Given the description of an element on the screen output the (x, y) to click on. 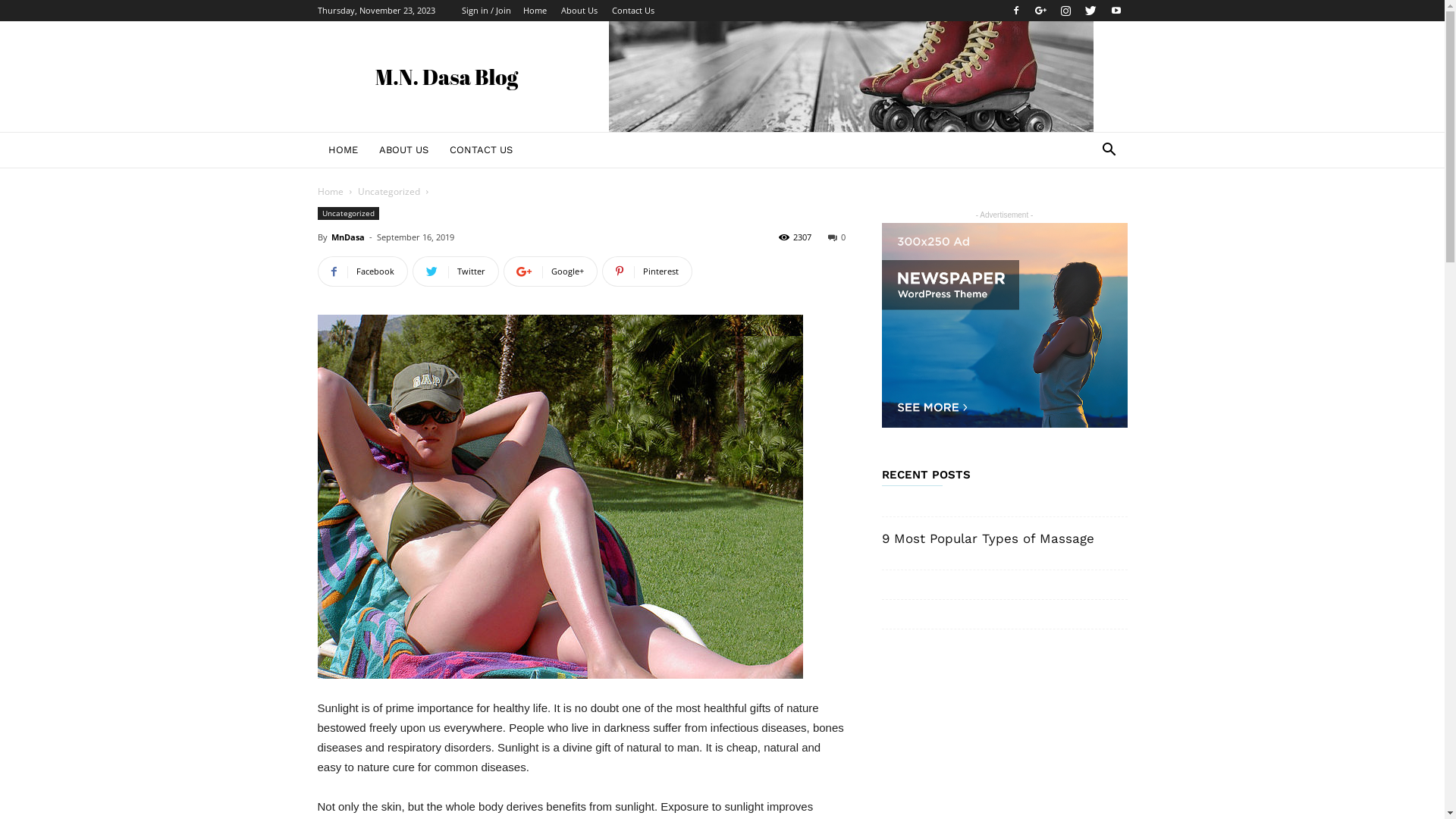
Pinterest Element type: text (647, 271)
Uncategorized Element type: text (388, 191)
HOME Element type: text (341, 149)
Uncategorized Element type: text (347, 213)
Sign in / Join Element type: text (485, 9)
sunbath Element type: hover (559, 496)
About Us Element type: text (579, 9)
Youtube Element type: hover (1115, 10)
Facebook Element type: text (361, 271)
Home Element type: text (329, 191)
Contact Us Element type: text (632, 9)
Search Element type: text (1085, 210)
9 Most Popular Types of Massage Element type: text (987, 538)
Home Element type: text (534, 9)
Instagram Element type: hover (1065, 10)
Google+ Element type: text (550, 271)
ABOUT US Element type: text (403, 149)
Twitter Element type: hover (1090, 10)
0 Element type: text (836, 236)
MnDasa Element type: text (347, 236)
CONTACT US Element type: text (480, 149)
Twitter Element type: text (455, 271)
Facebook Element type: hover (1015, 10)
Google+ Element type: hover (1040, 10)
